Given the description of an element on the screen output the (x, y) to click on. 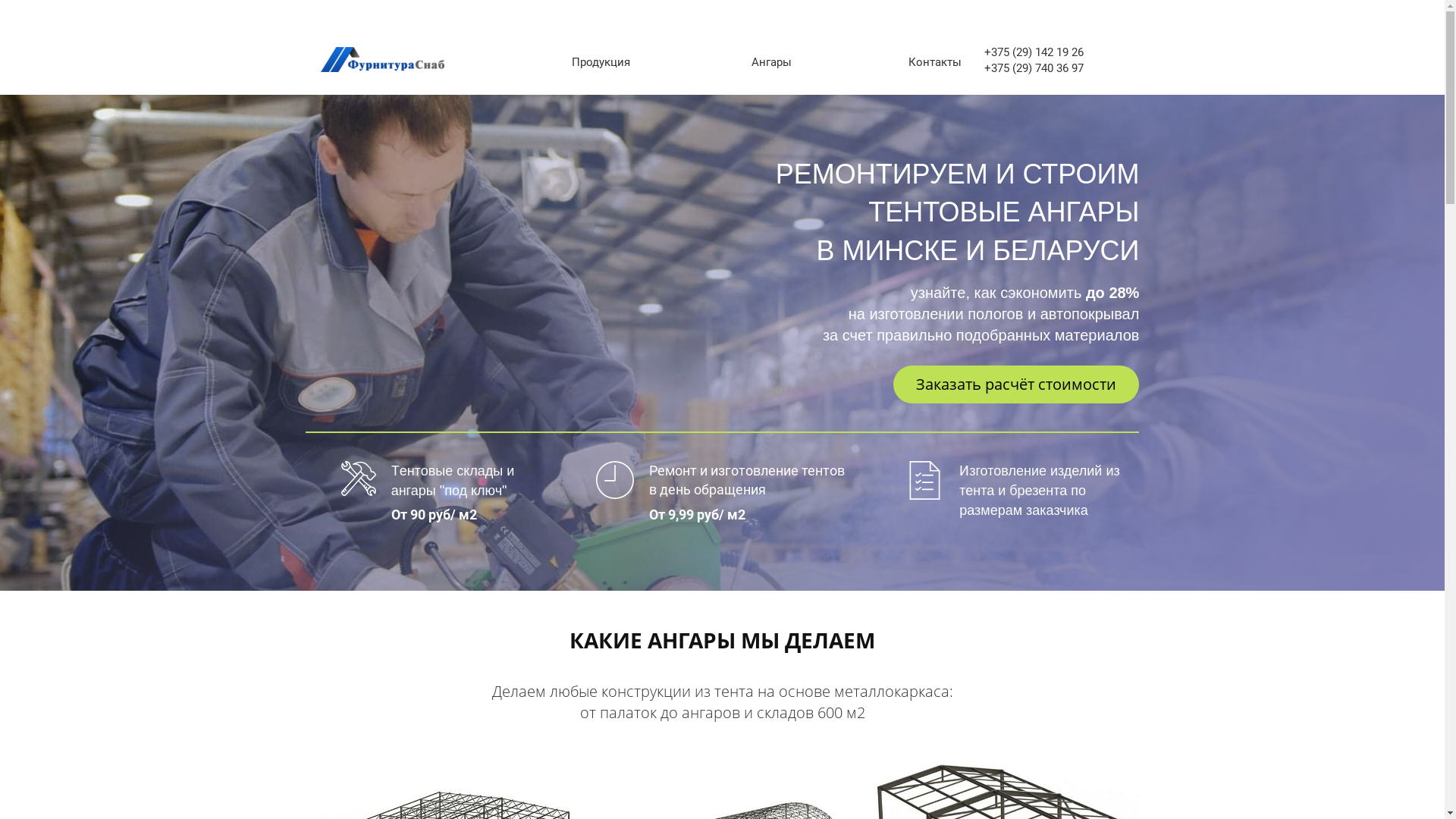
+375 (29) 740 36 97 Element type: text (1033, 68)
furniturasnab-logo Element type: hover (382, 59)
+375 (29) 142 19 26 Element type: text (1033, 52)
